Given the description of an element on the screen output the (x, y) to click on. 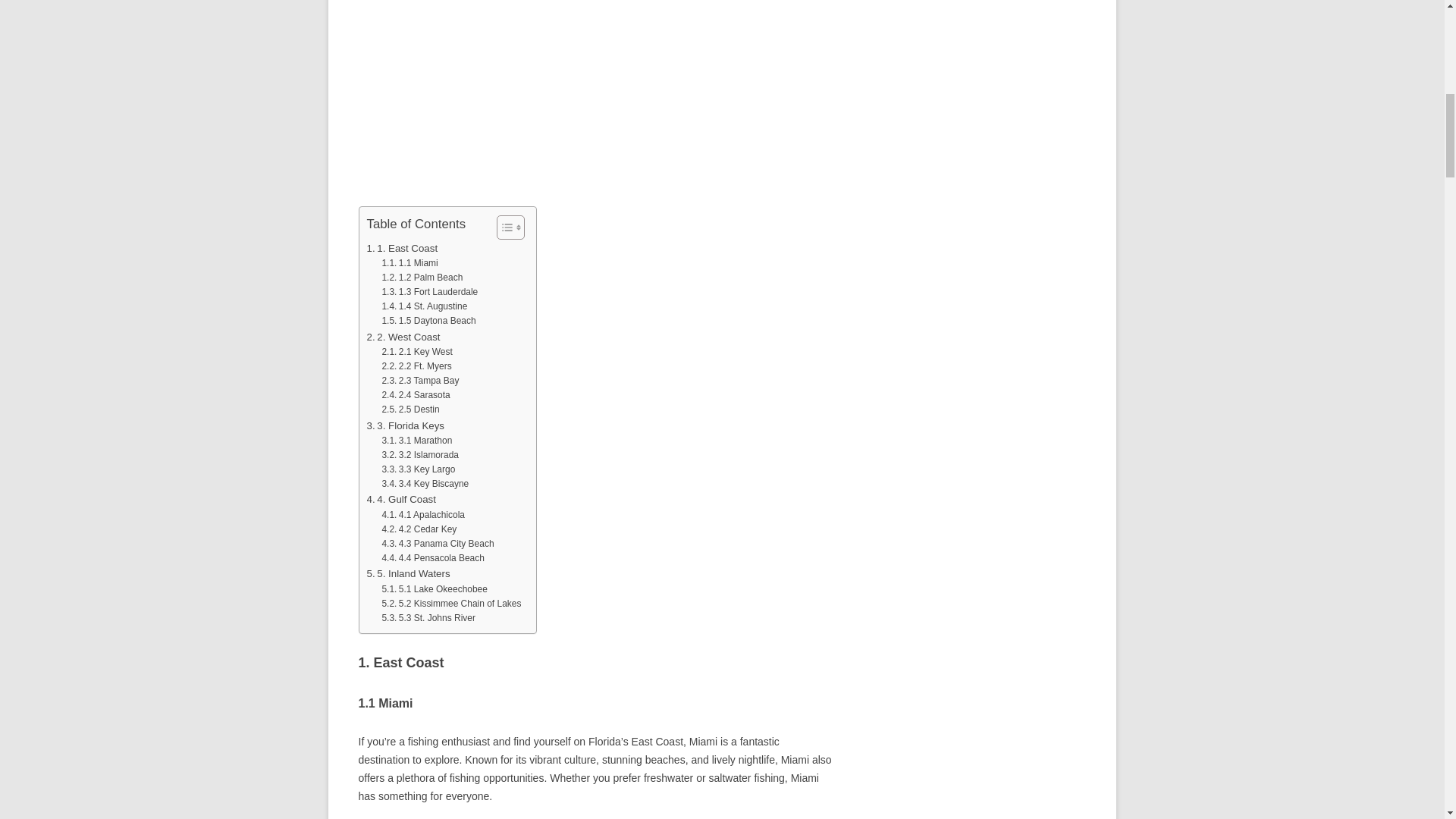
1.2 Palm Beach (422, 278)
1.4 St. Augustine (424, 306)
1. East Coast (402, 248)
5.2 Kissimmee Chain of Lakes (451, 603)
3.4 Key Biscayne (424, 483)
1.1 Miami (409, 263)
1.4 St. Augustine (424, 306)
4. Gulf Coast (400, 498)
2. West Coast (403, 336)
3.4 Key Biscayne (424, 483)
